Given the description of an element on the screen output the (x, y) to click on. 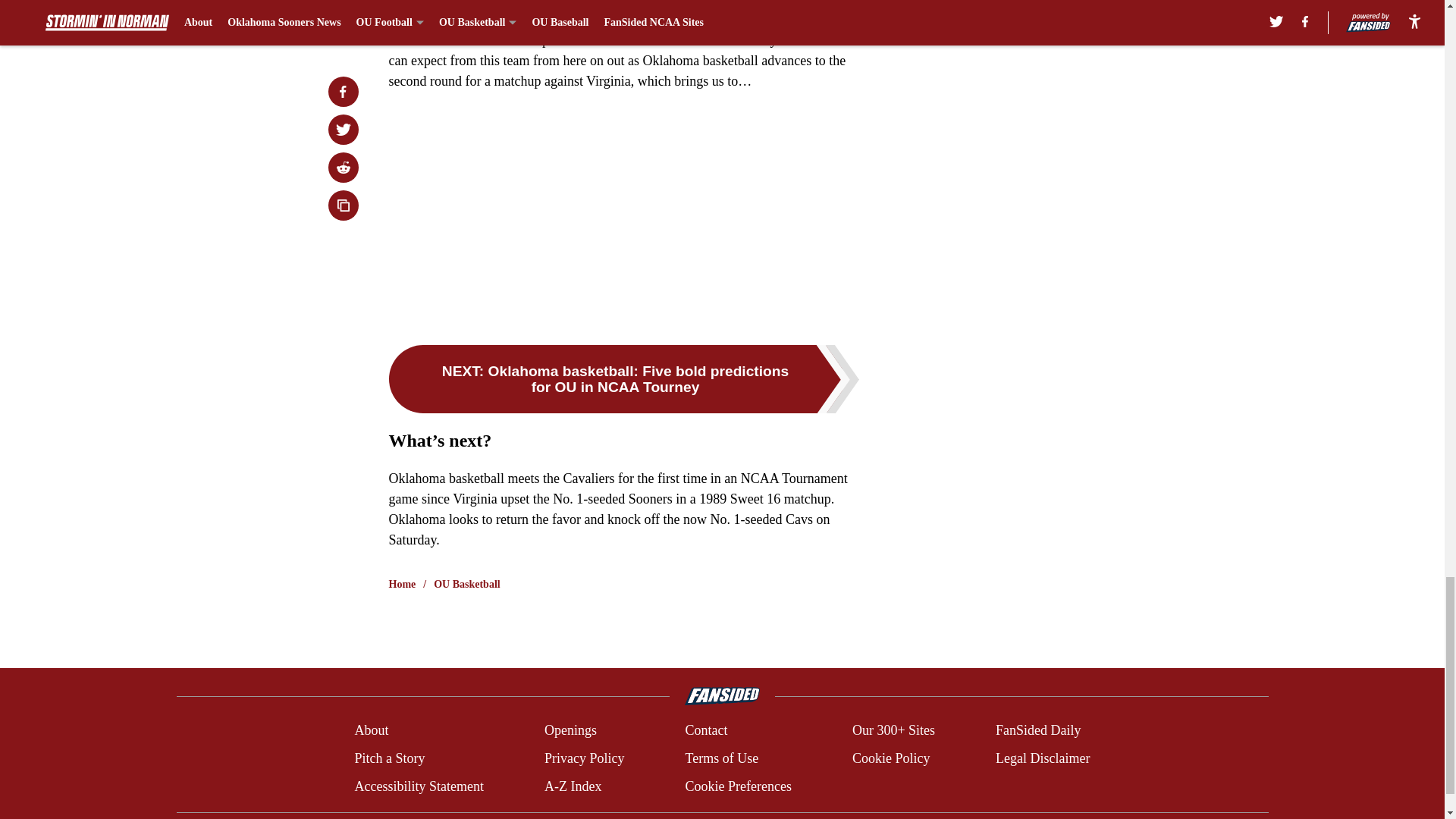
Home (401, 584)
FanSided Daily (1038, 730)
Openings (570, 730)
Cookie Policy (890, 758)
Privacy Policy (584, 758)
Contact (705, 730)
Legal Disclaimer (1042, 758)
Accessibility Statement (418, 786)
A-Z Index (572, 786)
